Given the description of an element on the screen output the (x, y) to click on. 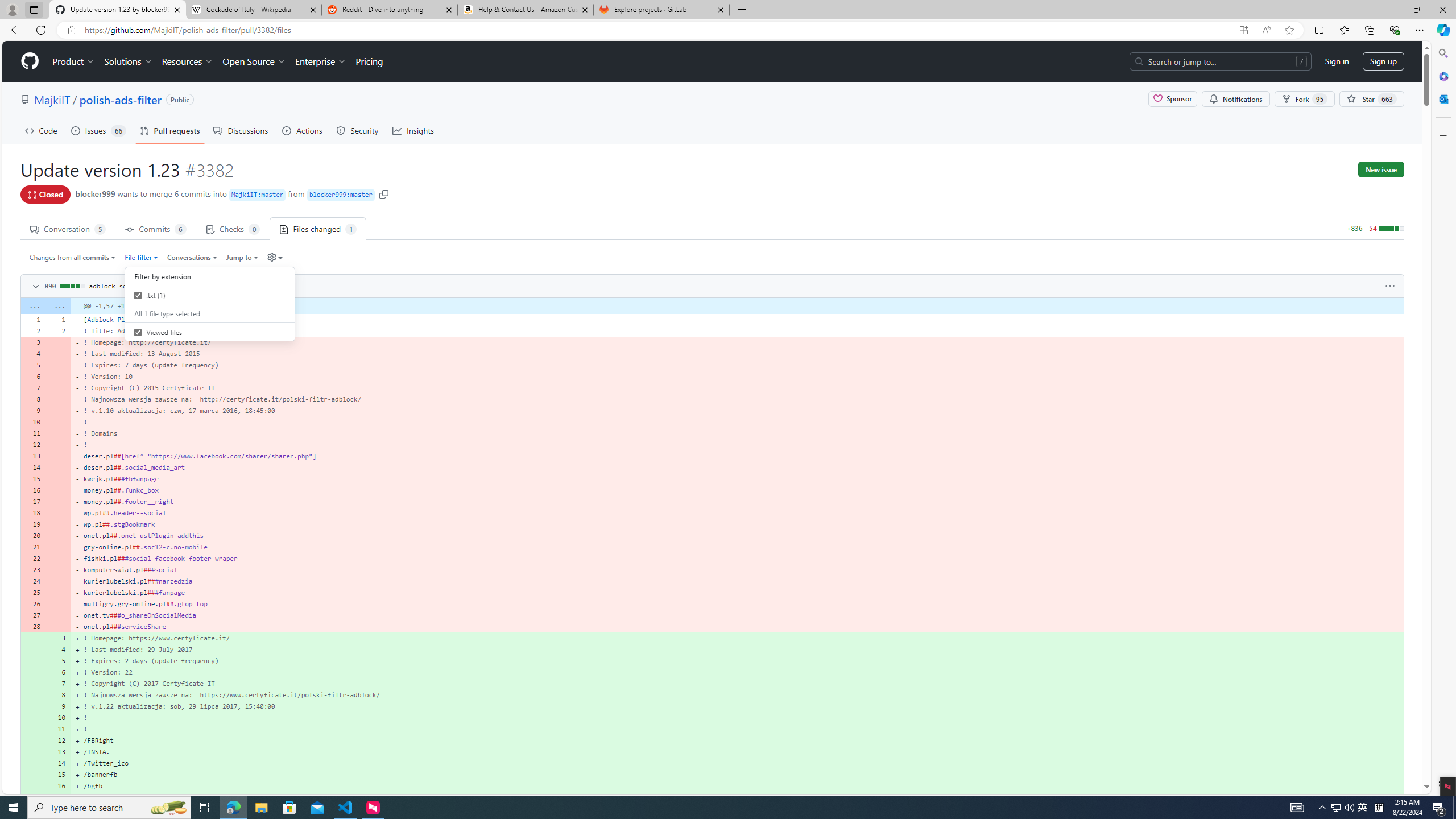
App available. Install GitHub (1243, 29)
- kurierlubelski.pl###fanpage (737, 592)
Viewed files (210, 331)
Cockade of Italy - Wikipedia (253, 9)
Class: show-top-border (711, 797)
 Commits 6 (155, 228)
Pull requests (170, 130)
